Given the description of an element on the screen output the (x, y) to click on. 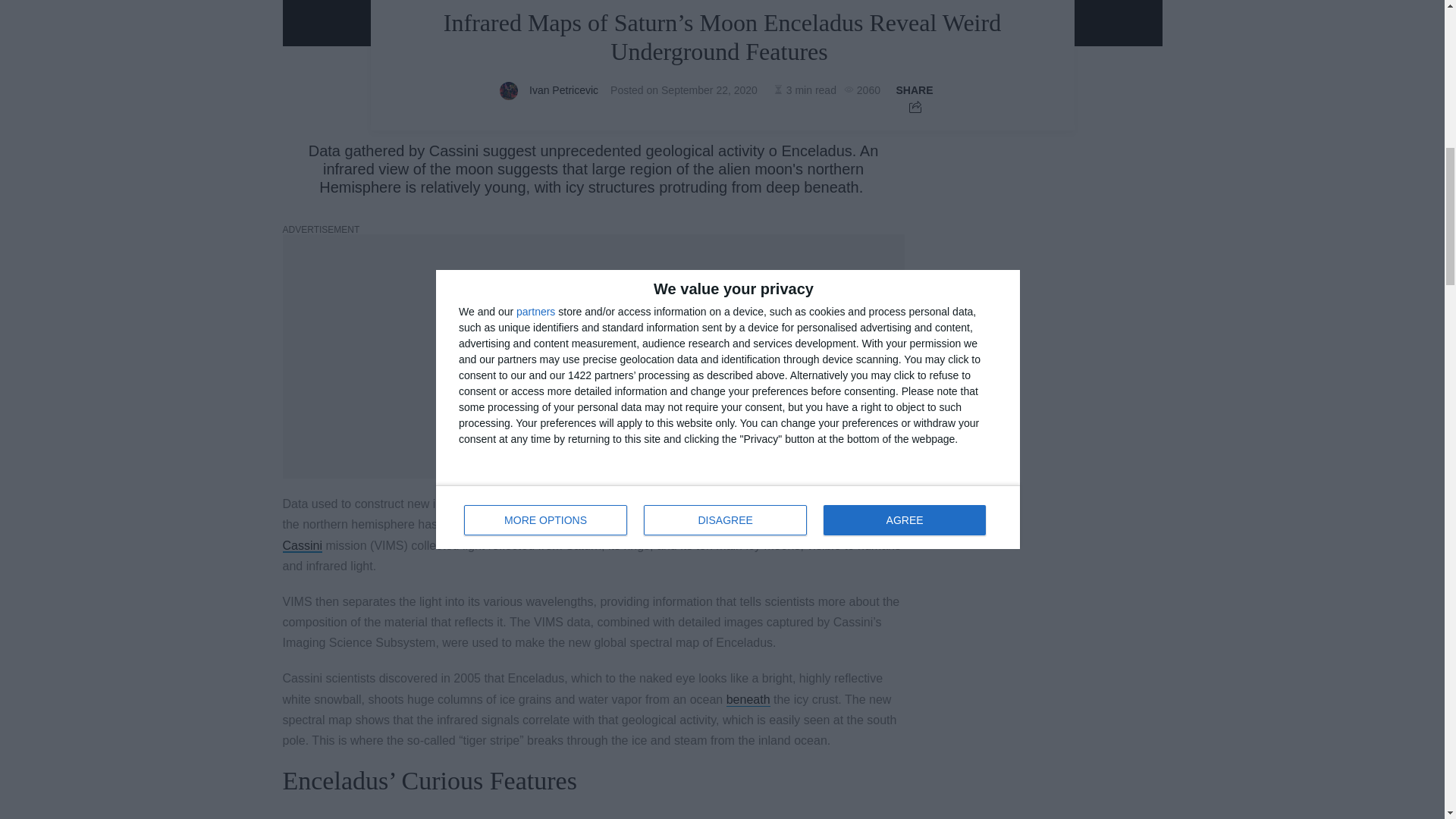
View all posts by Ivan Petricevic (563, 90)
